Given the description of an element on the screen output the (x, y) to click on. 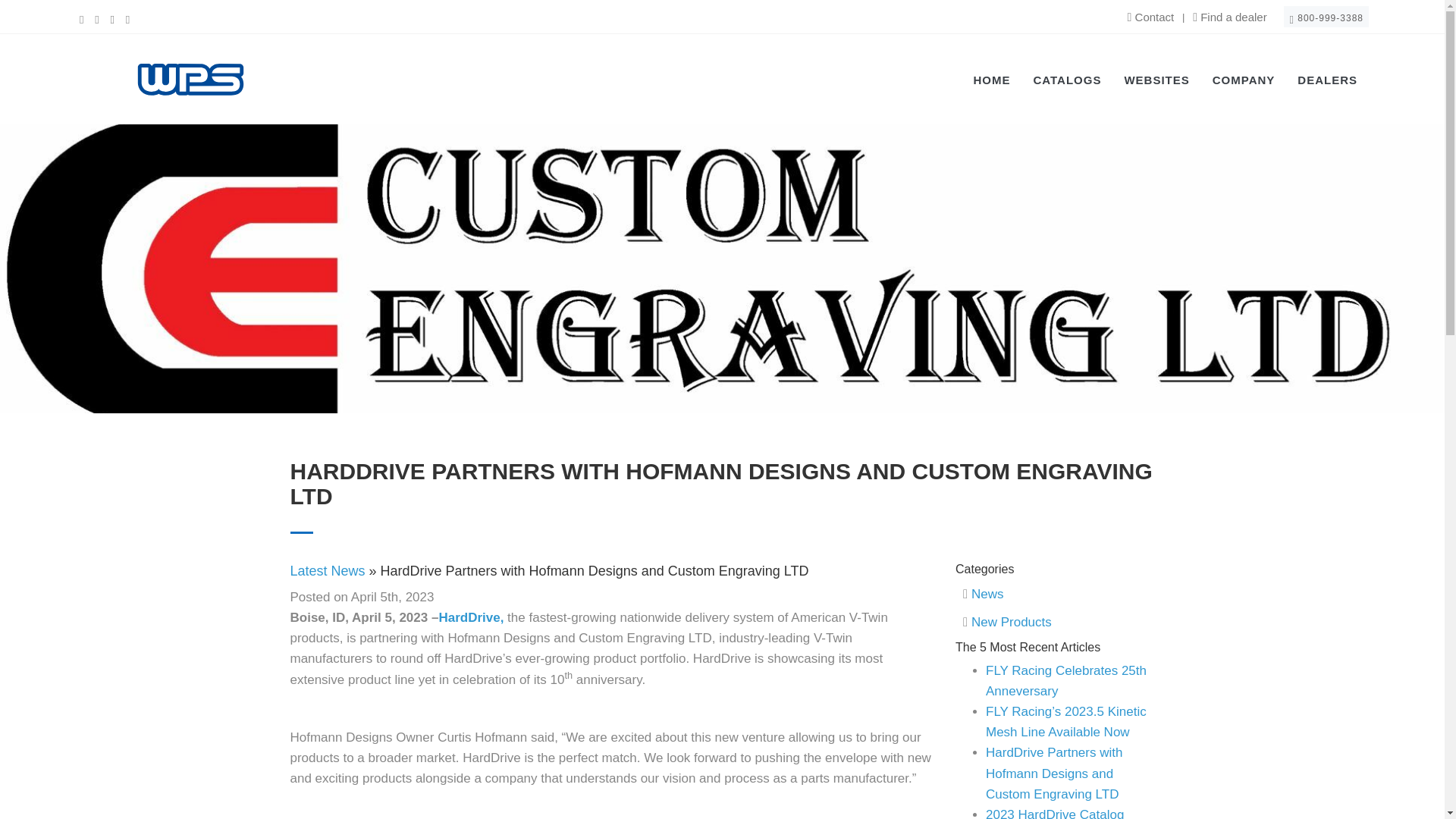
COMPANY (1244, 78)
News (987, 594)
Contact (1150, 16)
800-999-3388 (1326, 16)
WEBSITES (1155, 78)
FLY Racing Celebrates 25th Anneversary (1066, 680)
Latest News (327, 570)
HardDrive, (470, 617)
DEALERS (1326, 78)
Find a dealer (1229, 16)
